Given the description of an element on the screen output the (x, y) to click on. 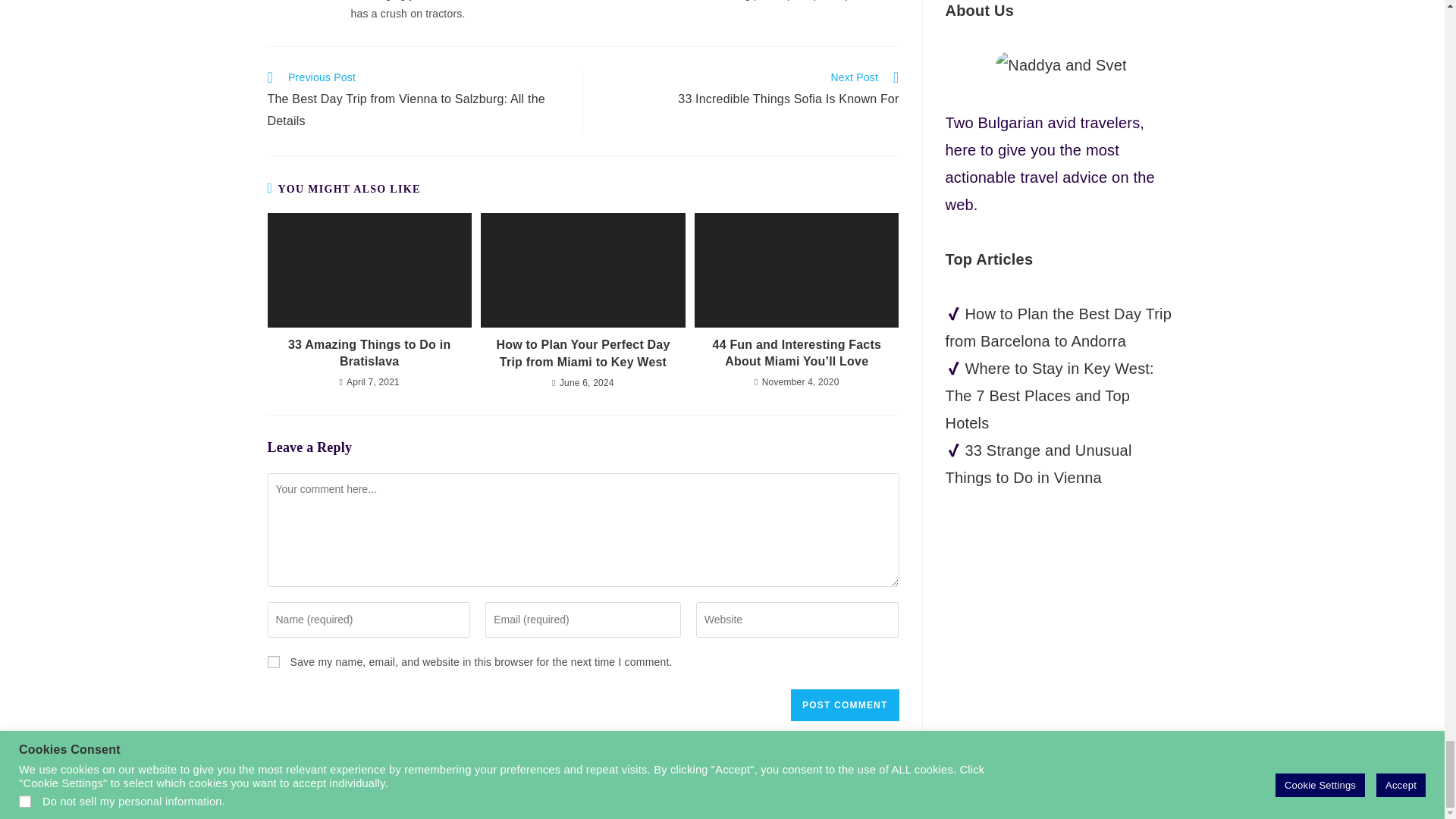
Post Comment (844, 705)
yes (272, 662)
